Given the description of an element on the screen output the (x, y) to click on. 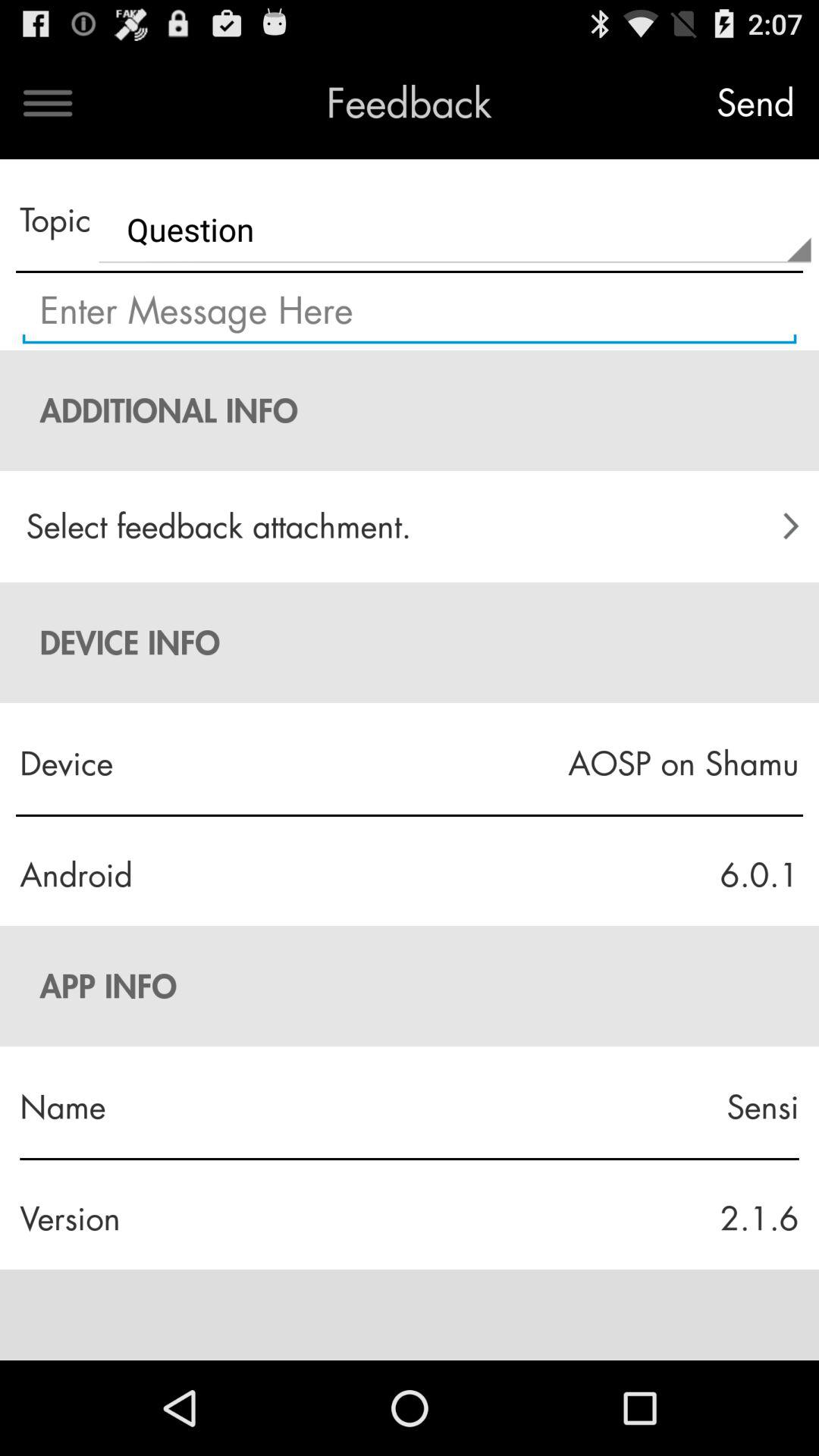
choose item next to the feedback item (47, 103)
